Given the description of an element on the screen output the (x, y) to click on. 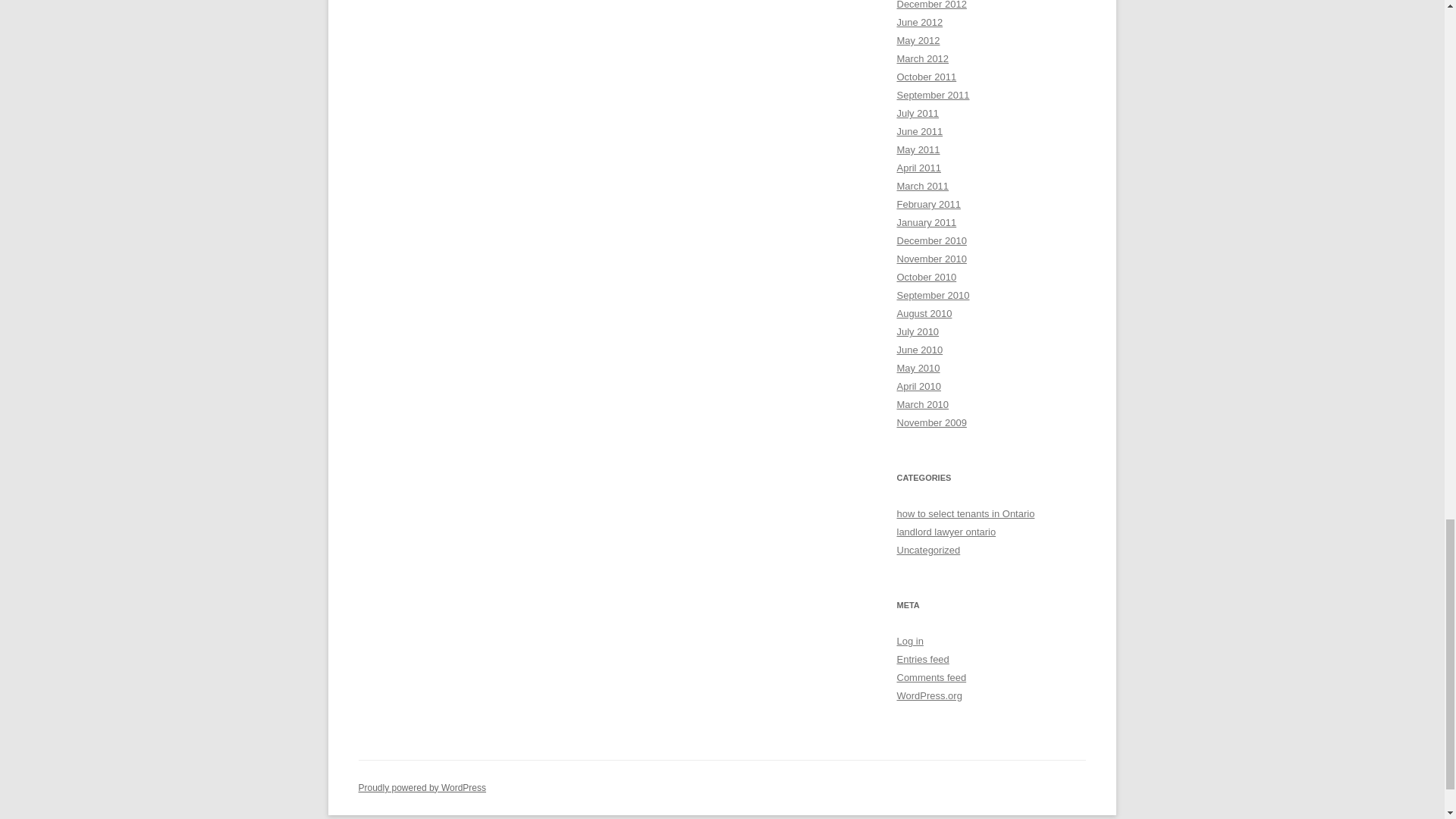
Semantic Personal Publishing Platform (422, 787)
